Given the description of an element on the screen output the (x, y) to click on. 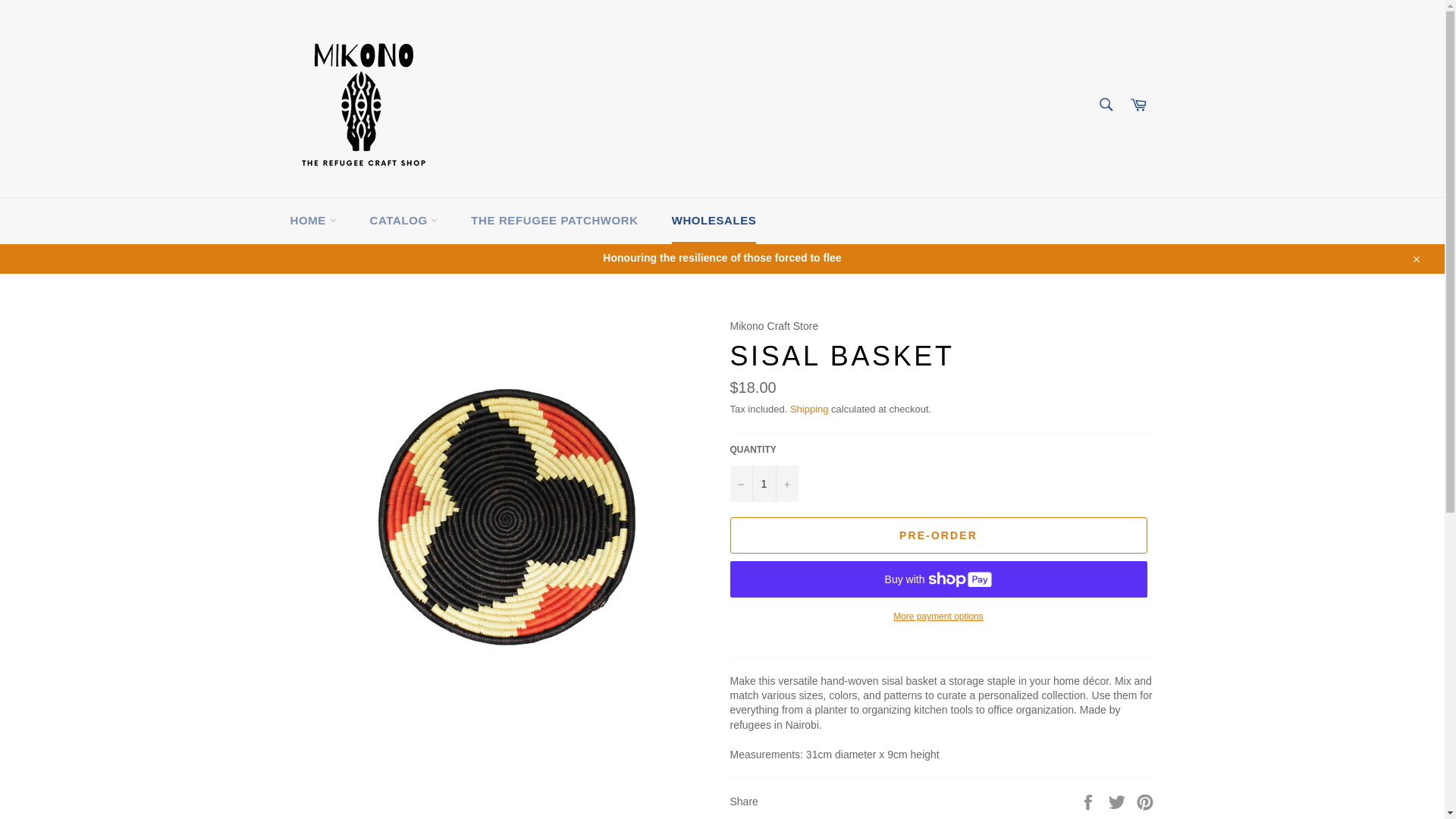
Share on Facebook (1089, 801)
1 (763, 484)
Pin on Pinterest (1144, 801)
WHOLESALES (713, 221)
Close (1414, 257)
THE REFUGEE PATCHWORK (553, 221)
HOME (312, 221)
Tweet on Twitter (1118, 801)
Cart (1138, 105)
Search (1104, 104)
CATALOG (403, 221)
